Given the description of an element on the screen output the (x, y) to click on. 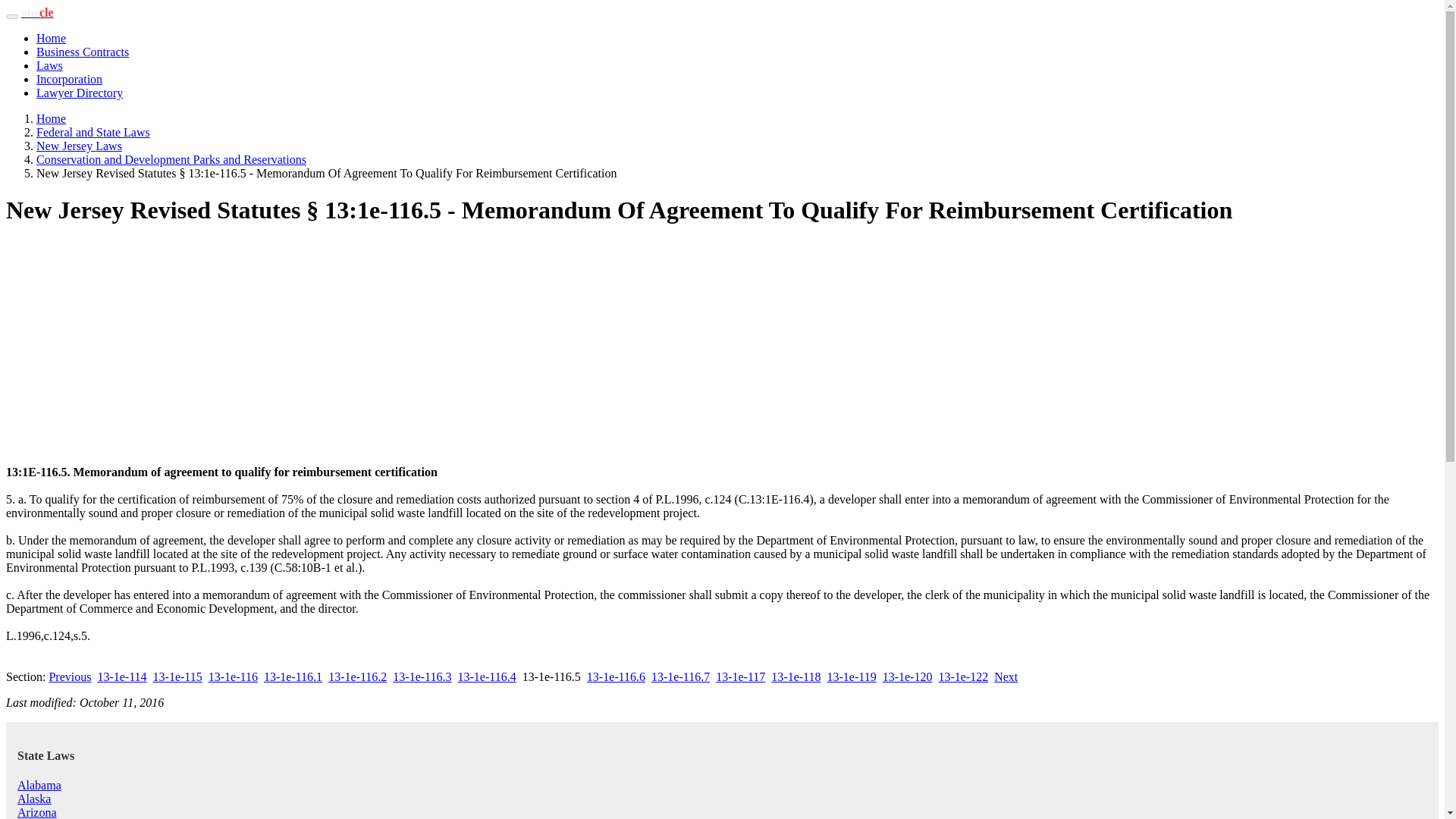
Home (50, 38)
Business Contracts (82, 51)
Laws (49, 65)
13-1e-116 (232, 676)
Alaska (33, 798)
13-1e-116.7 (680, 676)
13-1e-120 (907, 676)
13-1e-116.3 (422, 676)
onecle (37, 11)
Alabama (39, 784)
Lawyer Directory (79, 92)
13-1e-116.6 (615, 676)
Federal and State Laws (92, 132)
13-1e-118 (796, 676)
